Given the description of an element on the screen output the (x, y) to click on. 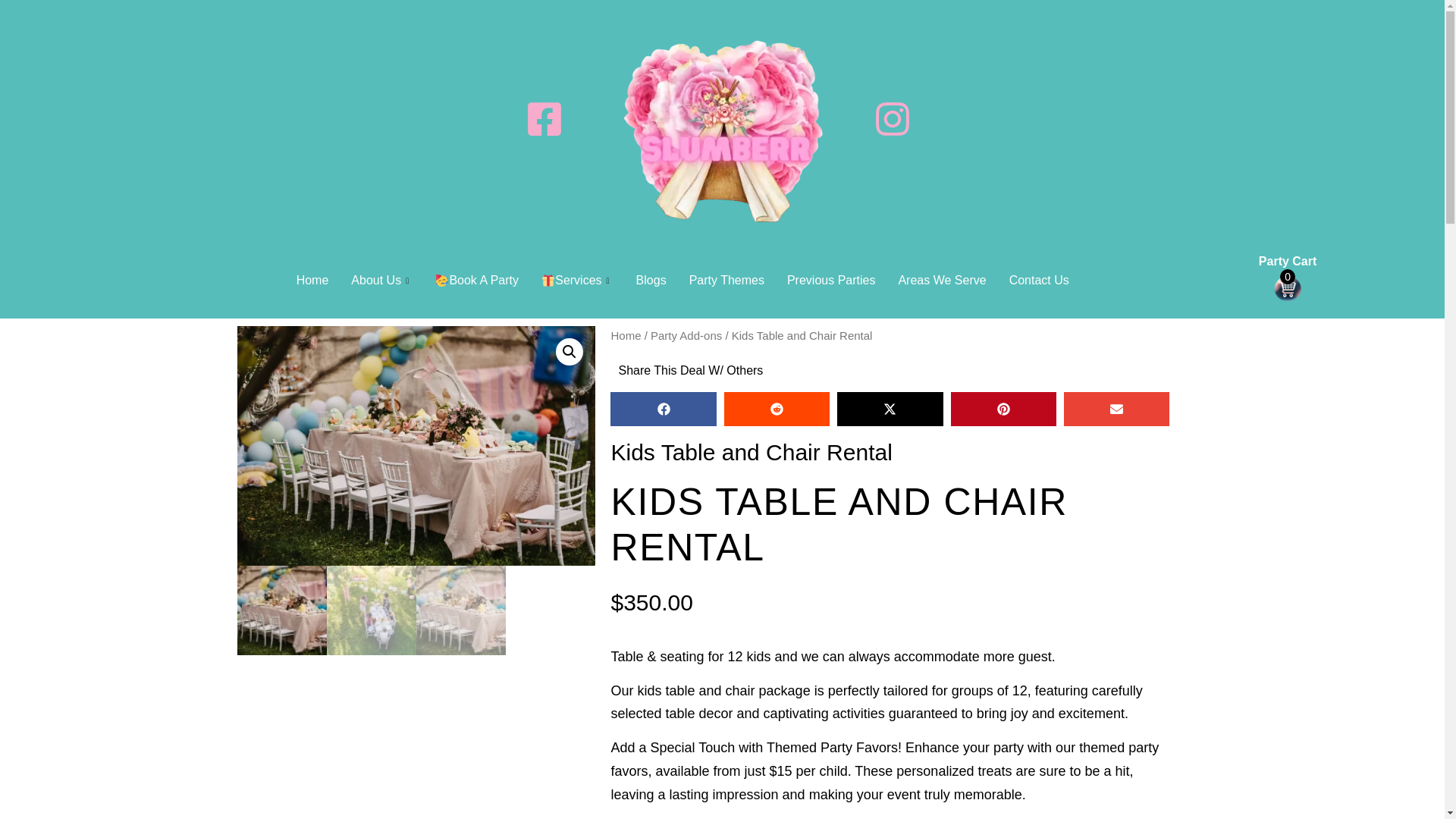
About Us (381, 280)
Services (576, 280)
Home (312, 280)
Book A Party (476, 280)
Previous Parties (831, 280)
0 (1287, 288)
Party Themes (727, 280)
Contact Us (1038, 280)
Services - Slumberr Party (576, 280)
Areas We Serve (941, 280)
